Given the description of an element on the screen output the (x, y) to click on. 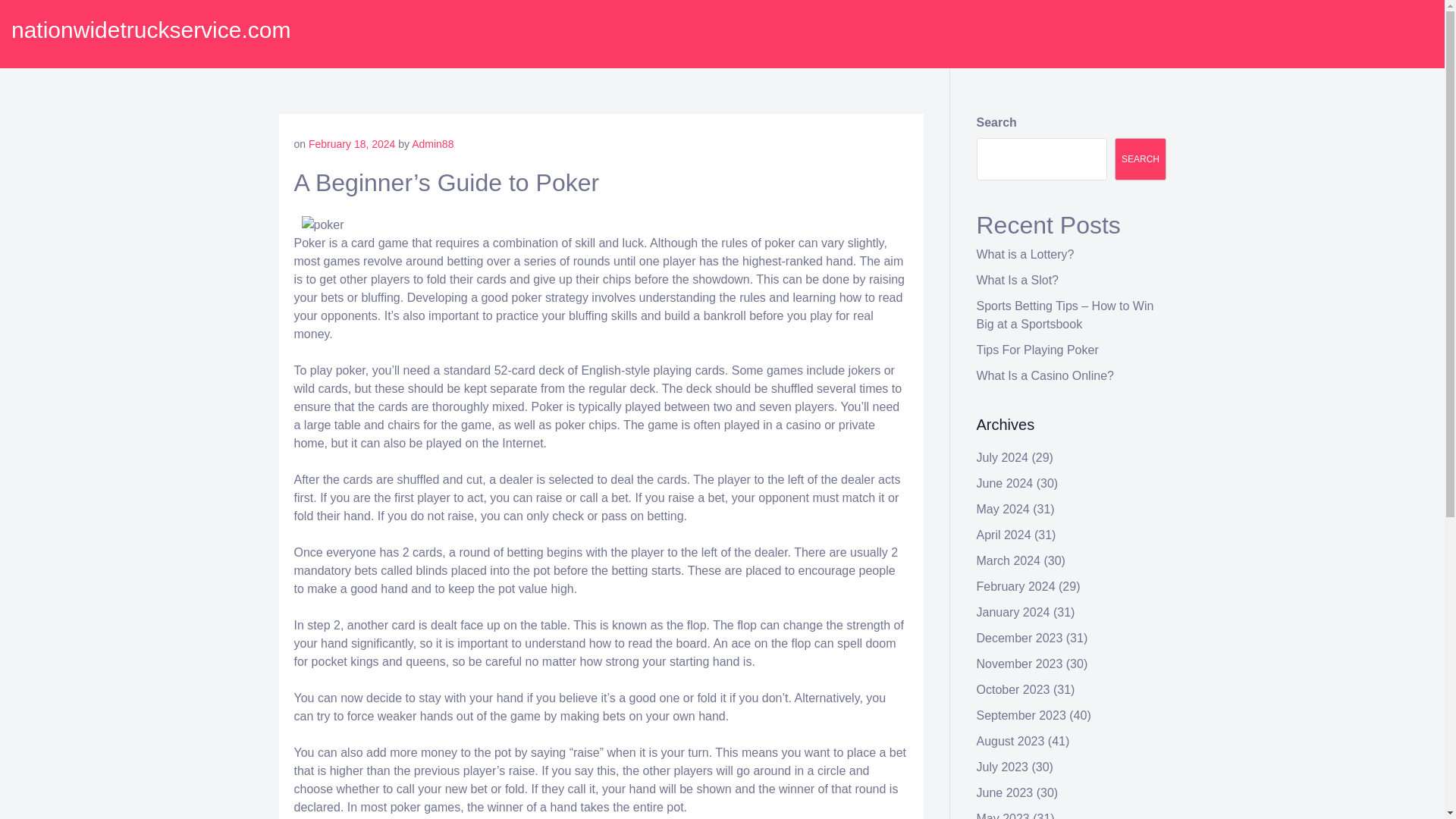
February 2024 (1015, 585)
January 2024 (1012, 612)
SEARCH (1140, 159)
What Is a Slot? (1017, 279)
May 2024 (1002, 508)
August 2023 (1010, 740)
Admin88 (432, 143)
nationwidetruckservice.com (150, 29)
July 2024 (1002, 457)
What Is a Casino Online? (1044, 375)
June 2024 (1004, 482)
October 2023 (1012, 689)
December 2023 (1019, 637)
November 2023 (1019, 663)
March 2024 (1008, 560)
